Given the description of an element on the screen output the (x, y) to click on. 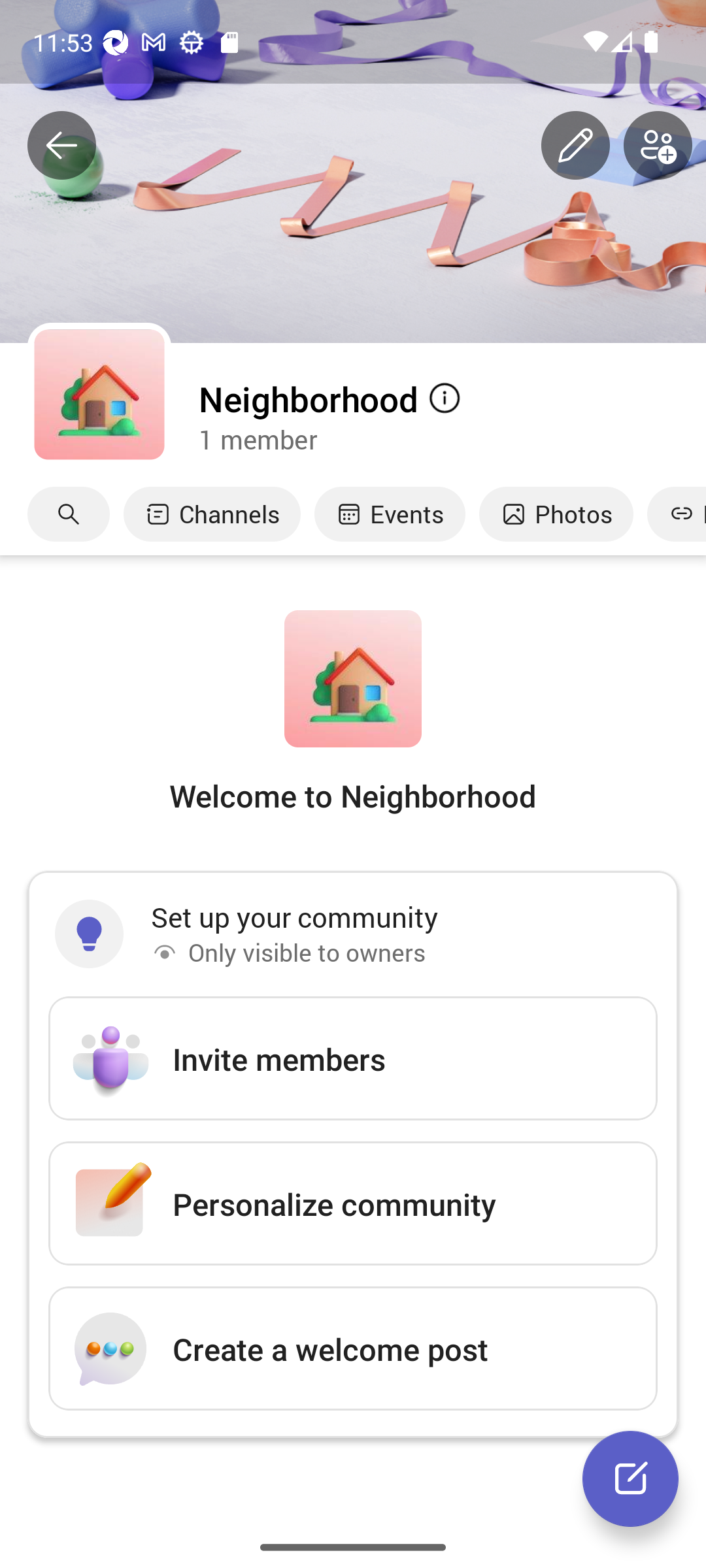
Back (61, 145)
Edit banner image (575, 145)
Add members (657, 145)
Neighborhood 1 member (450, 416)
Search tab, 1 of 6 (68, 513)
Channels tab, 2 of 6 Channels (211, 513)
Events tab, 3 of 6 Events (389, 513)
Photos tab, 4 of 6 Photos (556, 513)
Invite members (352, 1058)
Personalize community (352, 1203)
Create a welcome post (352, 1348)
New conversation (630, 1478)
